Given the description of an element on the screen output the (x, y) to click on. 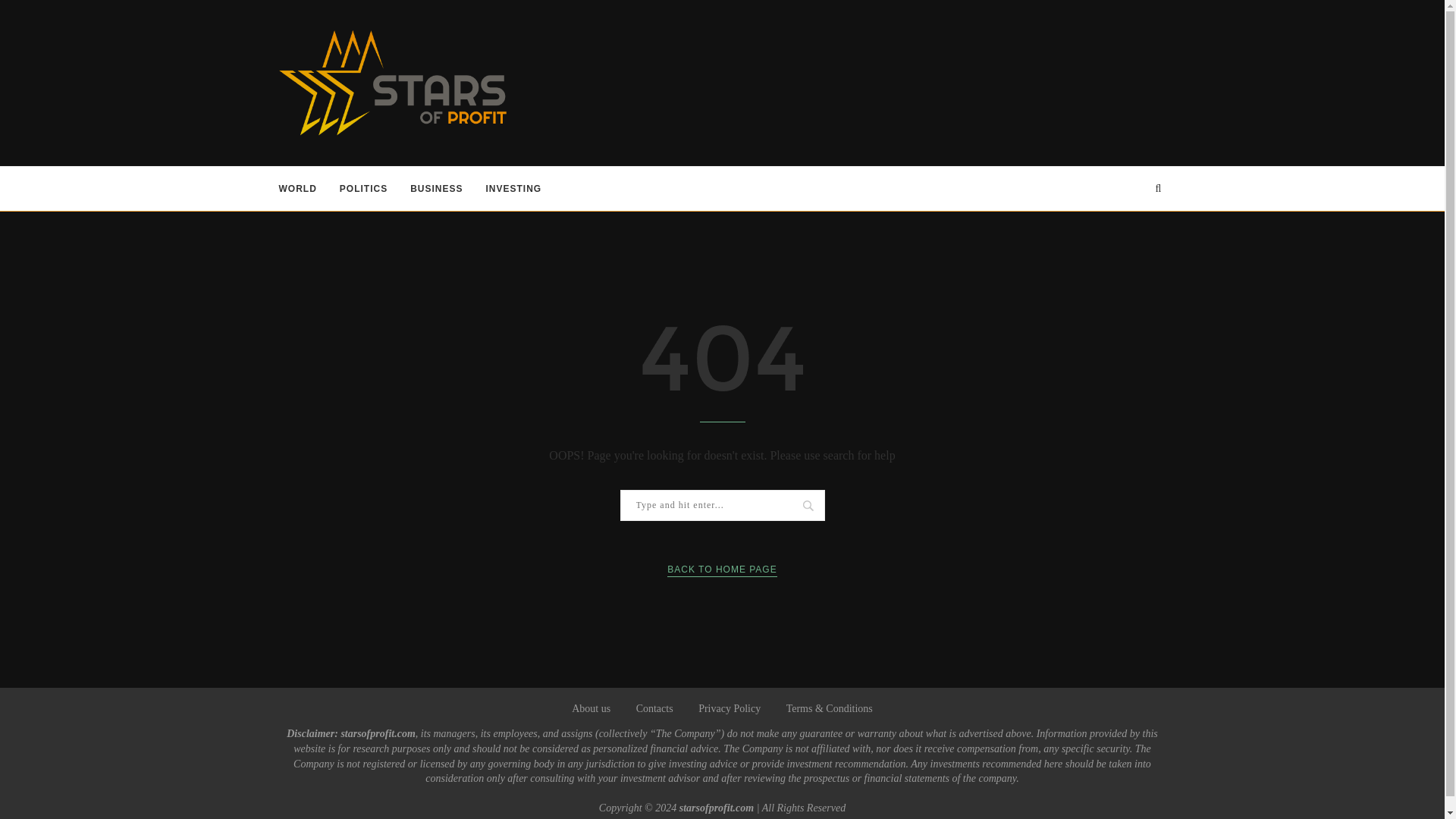
About us (591, 708)
BACK TO HOME PAGE (721, 569)
INVESTING (513, 188)
Privacy Policy (729, 708)
Contacts (654, 708)
BUSINESS (436, 188)
POLITICS (363, 188)
